Given the description of an element on the screen output the (x, y) to click on. 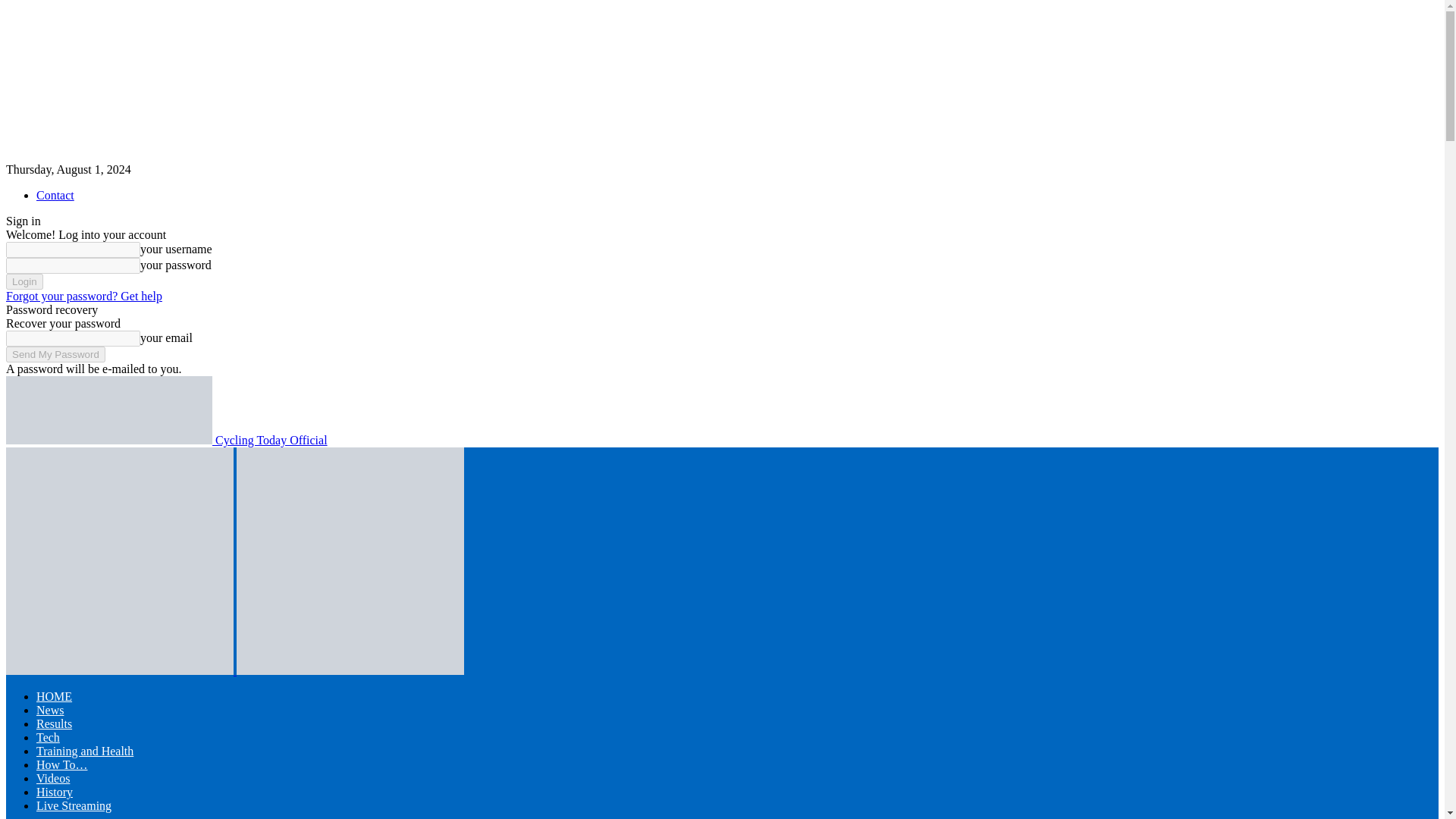
Forgot your password? Get help (83, 295)
Results (53, 723)
Cycling Today Official (166, 440)
Videos (52, 778)
Live Streaming (74, 805)
Tech (47, 737)
Training and Health (84, 750)
Send My Password (54, 354)
History (54, 791)
Login (24, 281)
HOME (53, 696)
Contact (55, 195)
News (50, 709)
